Given the description of an element on the screen output the (x, y) to click on. 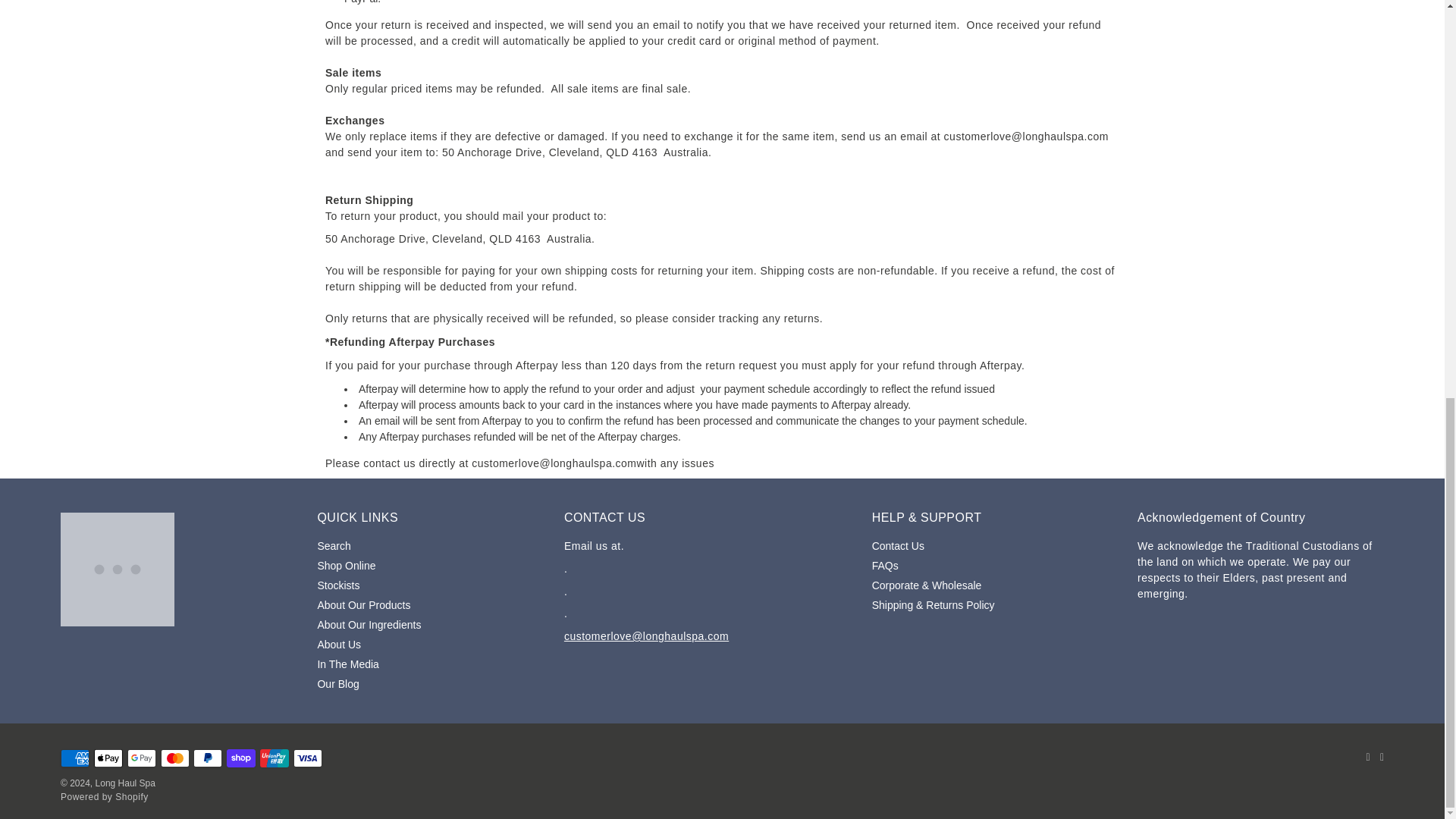
Stockists (338, 585)
PayPal (207, 758)
Visa (307, 758)
American Express (74, 758)
About Our Products (363, 604)
Mastercard (174, 758)
About Our Ingredients (368, 624)
Google Pay (141, 758)
Shop Online (346, 565)
Union Pay (274, 758)
Search (333, 545)
Apple Pay (108, 758)
Shop Pay (241, 758)
